Given the description of an element on the screen output the (x, y) to click on. 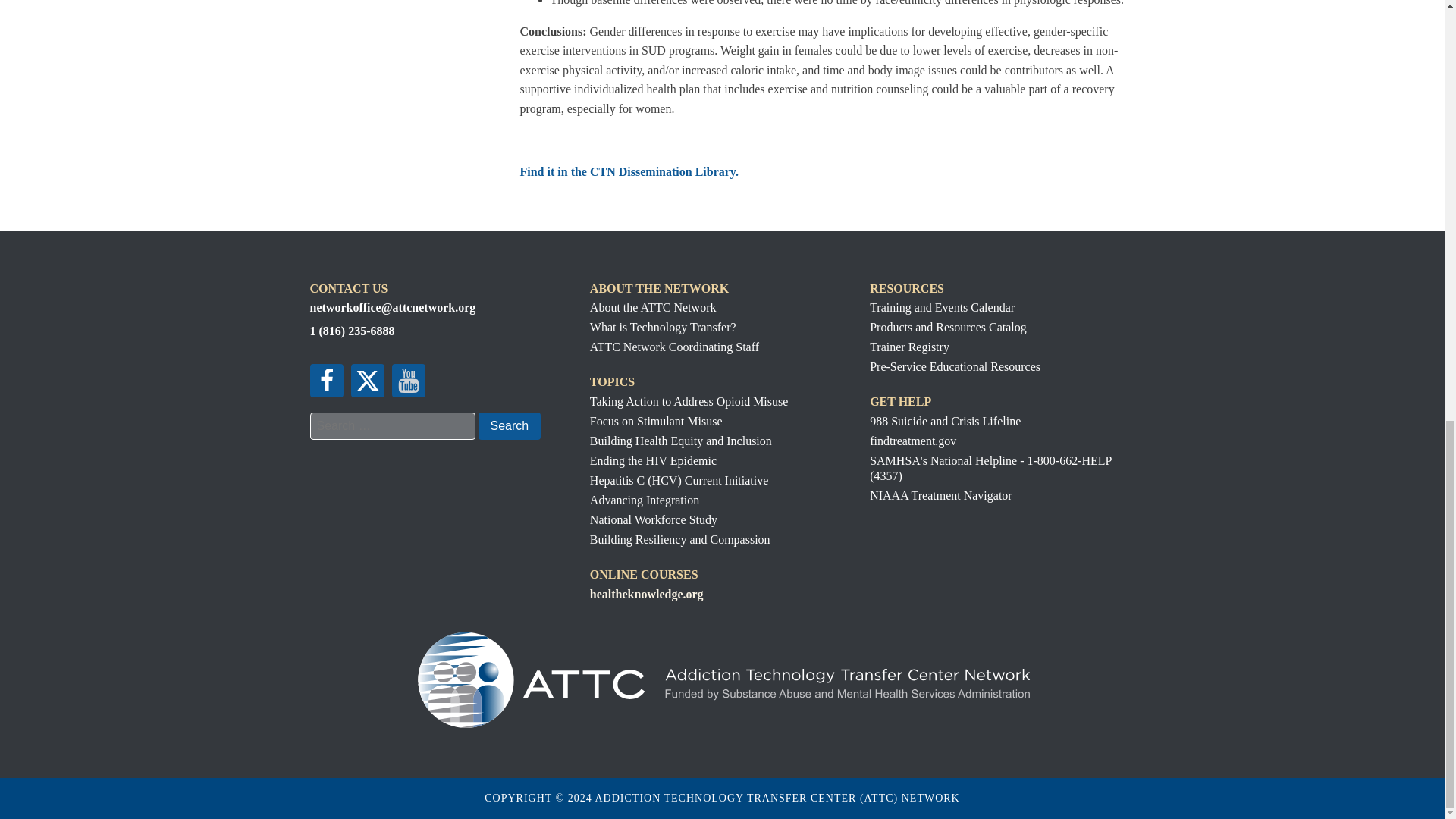
Search (508, 425)
Search (508, 425)
